Given the description of an element on the screen output the (x, y) to click on. 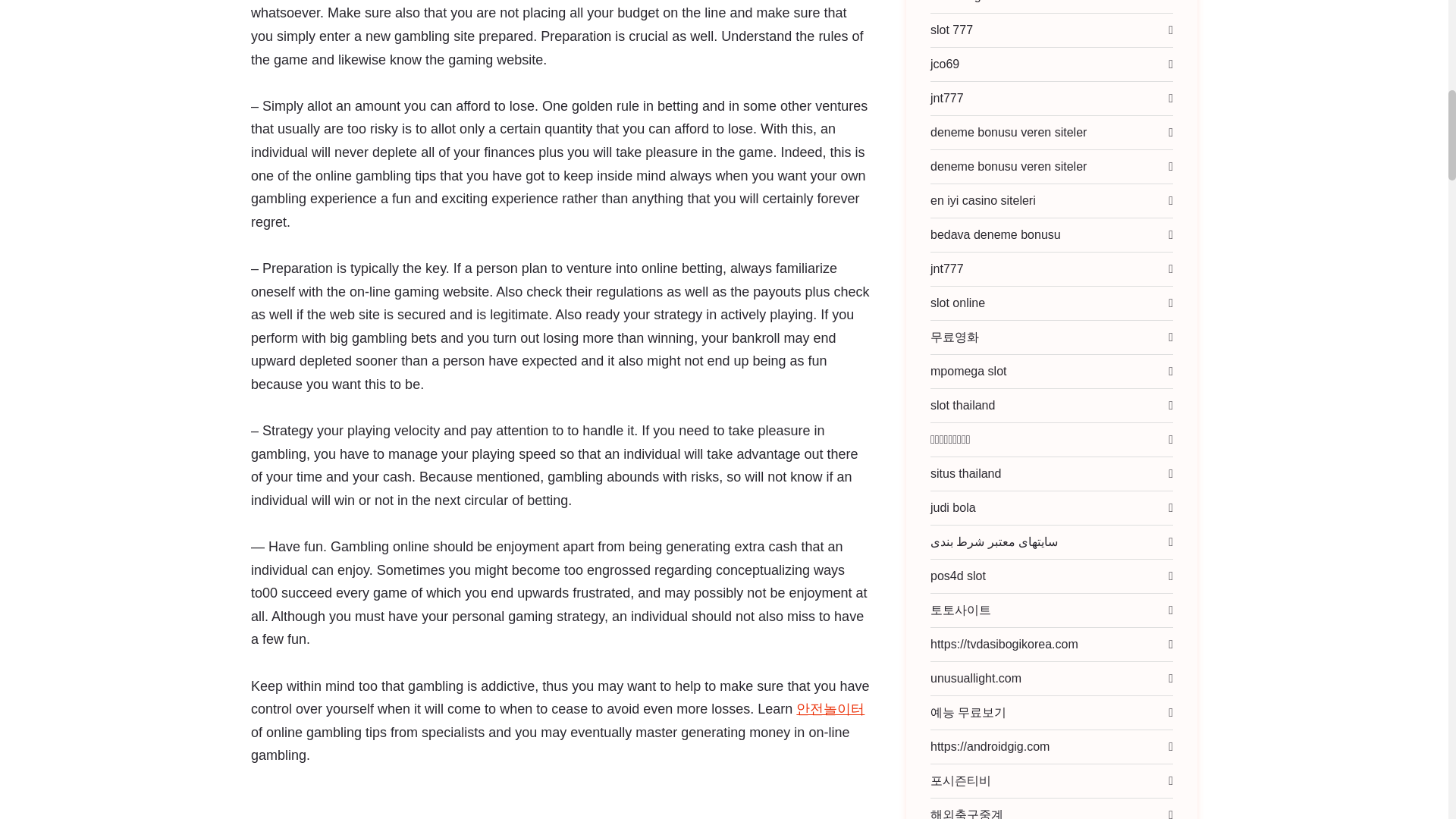
Koi77 login (968, 6)
deneme bonusu veren siteler (1016, 131)
en iyi casino siteleri (991, 200)
jnt777 (955, 268)
bedava deneme bonusu (1004, 234)
slot 777 (960, 29)
slot online (966, 303)
jnt777 (955, 98)
jco69 (953, 63)
deneme bonusu veren siteler (1016, 166)
mpomega slot (977, 371)
